Given the description of an element on the screen output the (x, y) to click on. 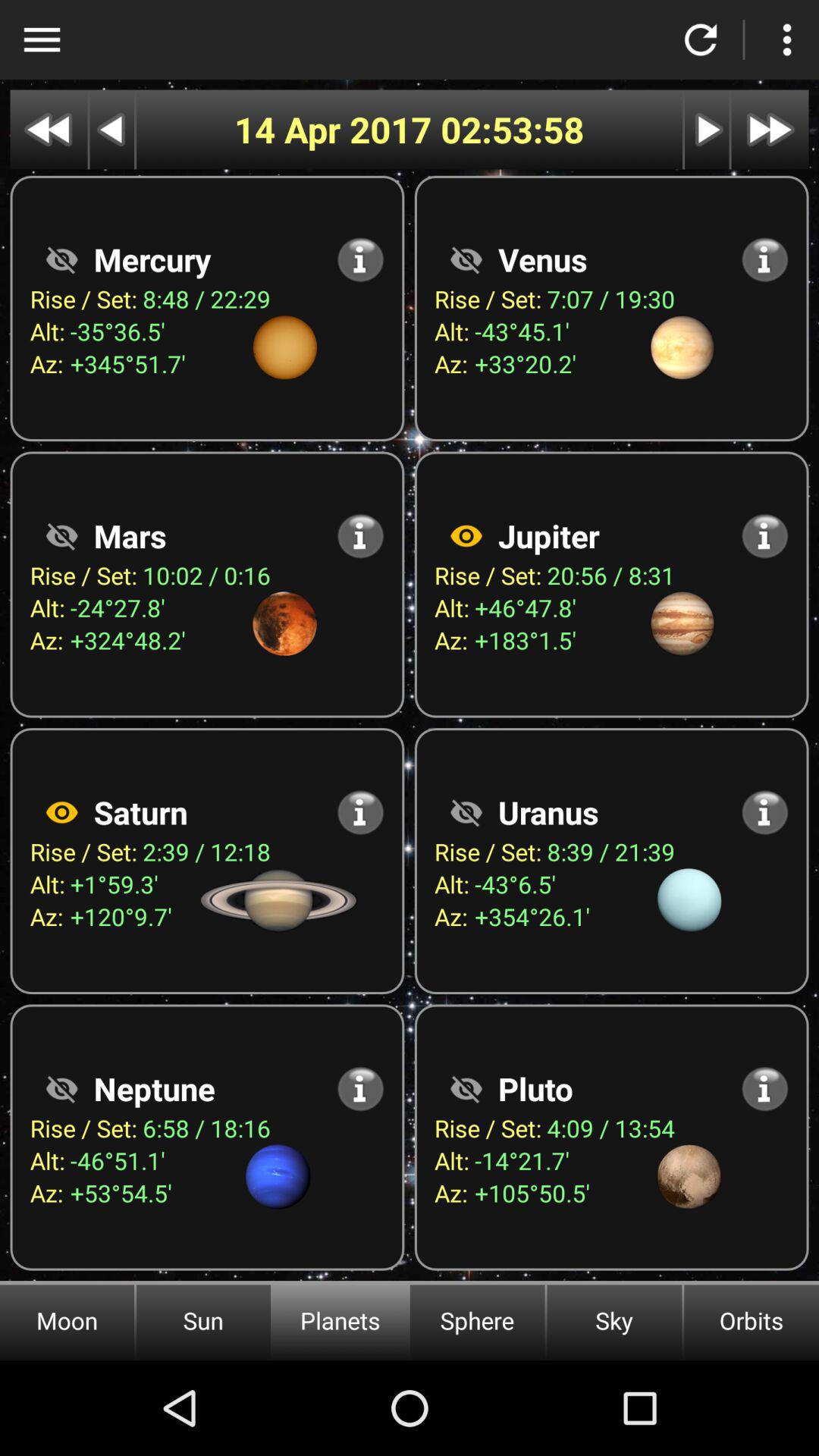
come back (700, 39)
